Given the description of an element on the screen output the (x, y) to click on. 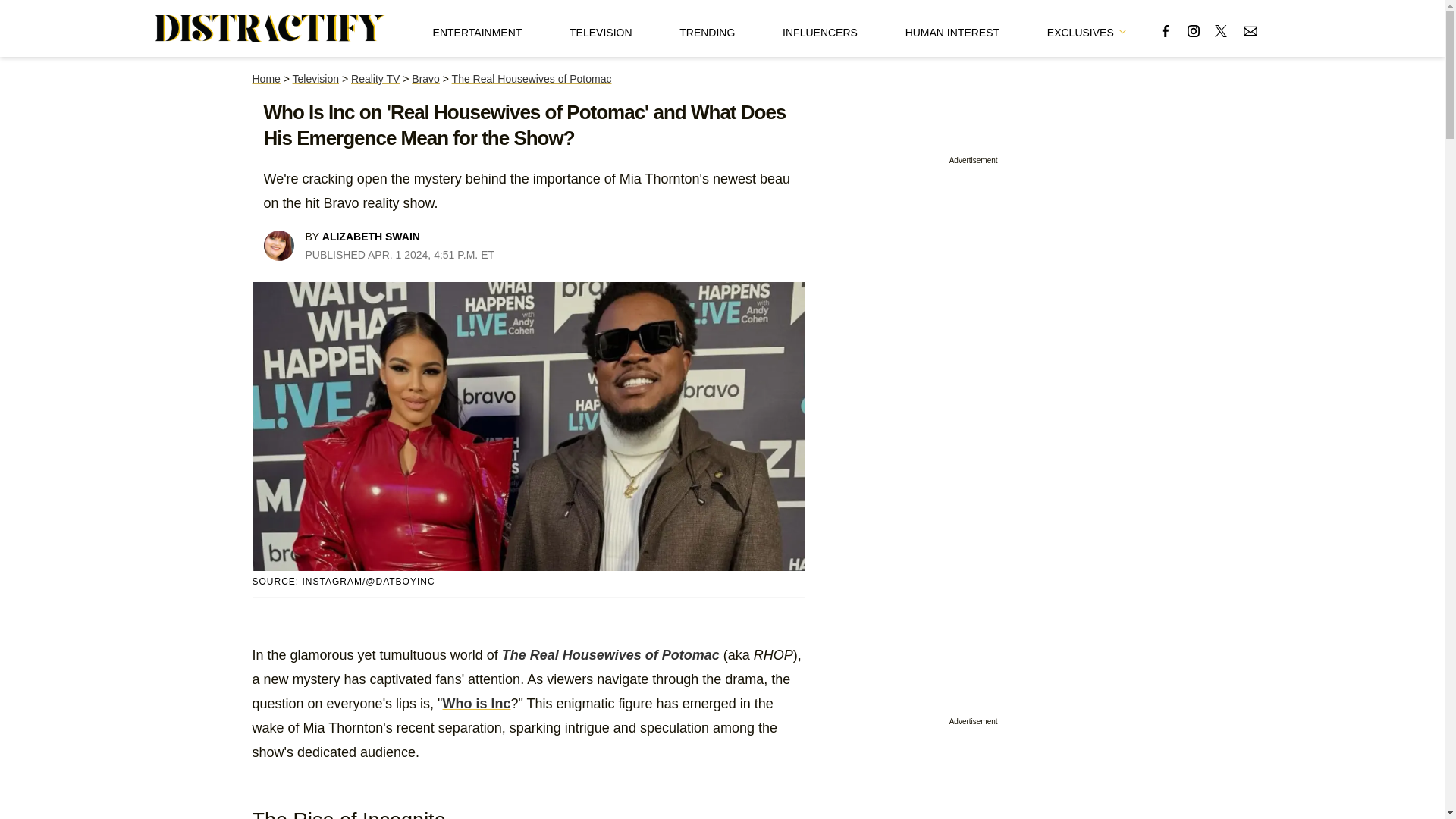
Television (315, 78)
TELEVISION (600, 27)
Home (265, 78)
LINK TO FACEBOOK (1165, 30)
Bravo (425, 78)
LINK TO EMAIL SUBSCRIBE (1250, 30)
LINK TO X (1220, 30)
Who is Inc (476, 703)
The Real Housewives of Potomac (610, 654)
LINK TO INSTAGRAM (1193, 30)
Reality TV (374, 78)
HUMAN INTEREST (951, 27)
ENTERTAINMENT (477, 27)
The Real Housewives of Potomac (531, 78)
INFLUENCERS (820, 27)
